Given the description of an element on the screen output the (x, y) to click on. 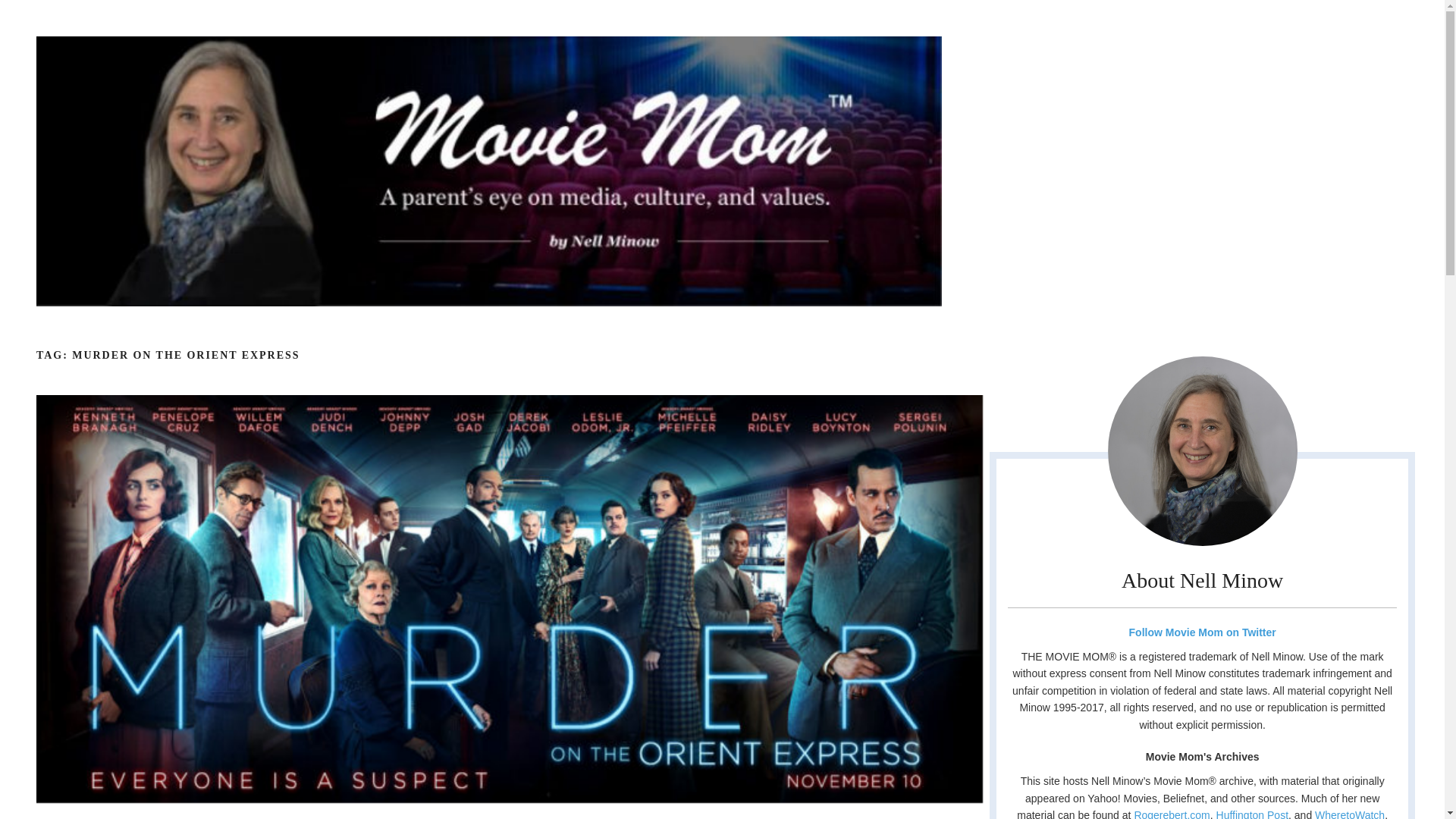
Follow Movie Mom on Twitter (1201, 632)
WheretoWatch (1349, 814)
Huffington Post (1251, 814)
Rogerebert.com (1171, 814)
